Given the description of an element on the screen output the (x, y) to click on. 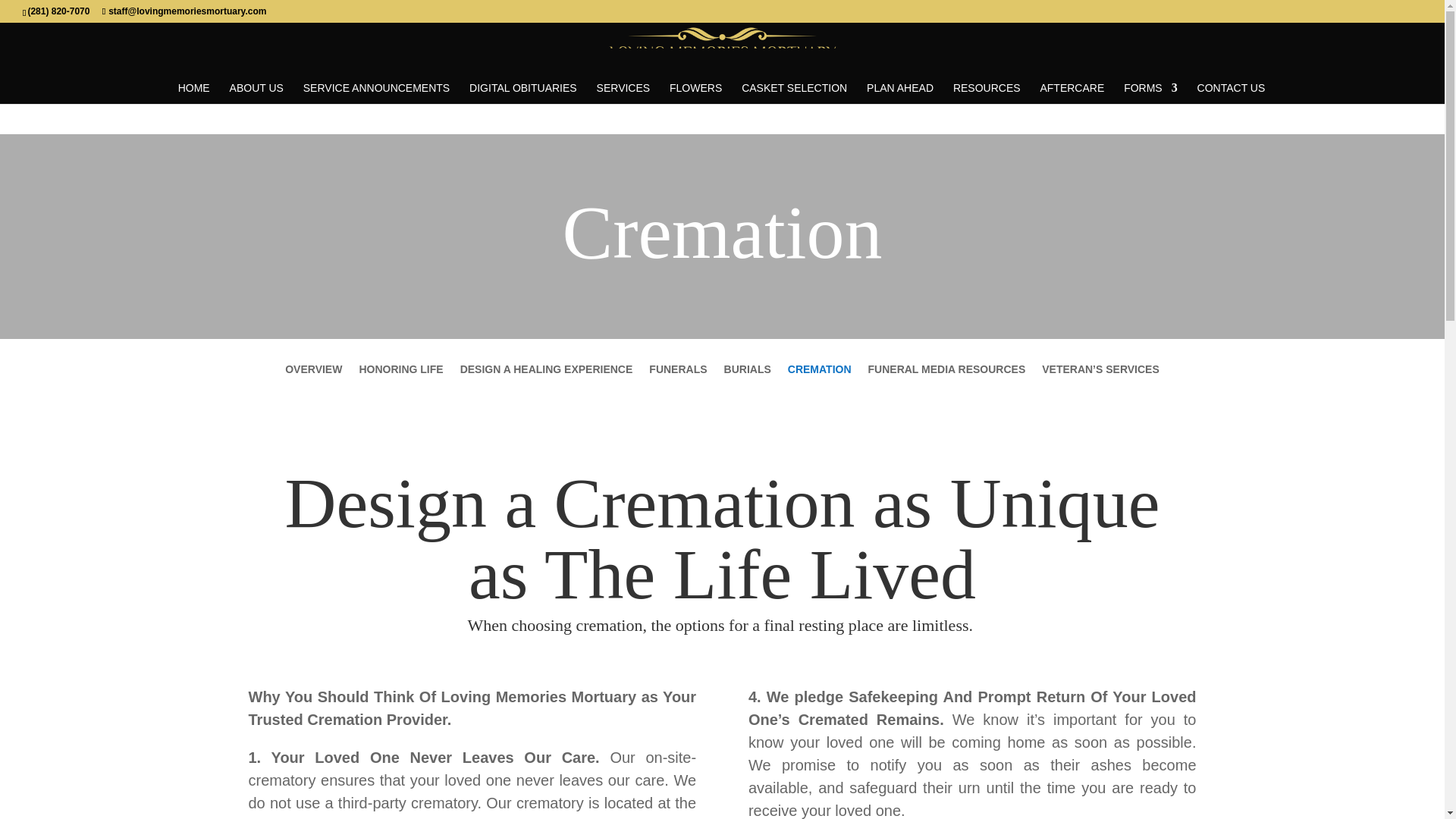
CREMATION (819, 379)
PLAN AHEAD (899, 93)
HOME (193, 93)
AFTERCARE (1071, 93)
FUNERAL MEDIA RESOURCES (946, 379)
DIGITAL OBITUARIES (522, 93)
SERVICES (623, 93)
OVERVIEW (313, 379)
SERVICE ANNOUNCEMENTS (375, 93)
CONTACT US (1230, 93)
FUNERALS (677, 379)
DESIGN A HEALING EXPERIENCE (546, 379)
RESOURCES (986, 93)
ABOUT US (256, 93)
FORMS (1150, 93)
